Given the description of an element on the screen output the (x, y) to click on. 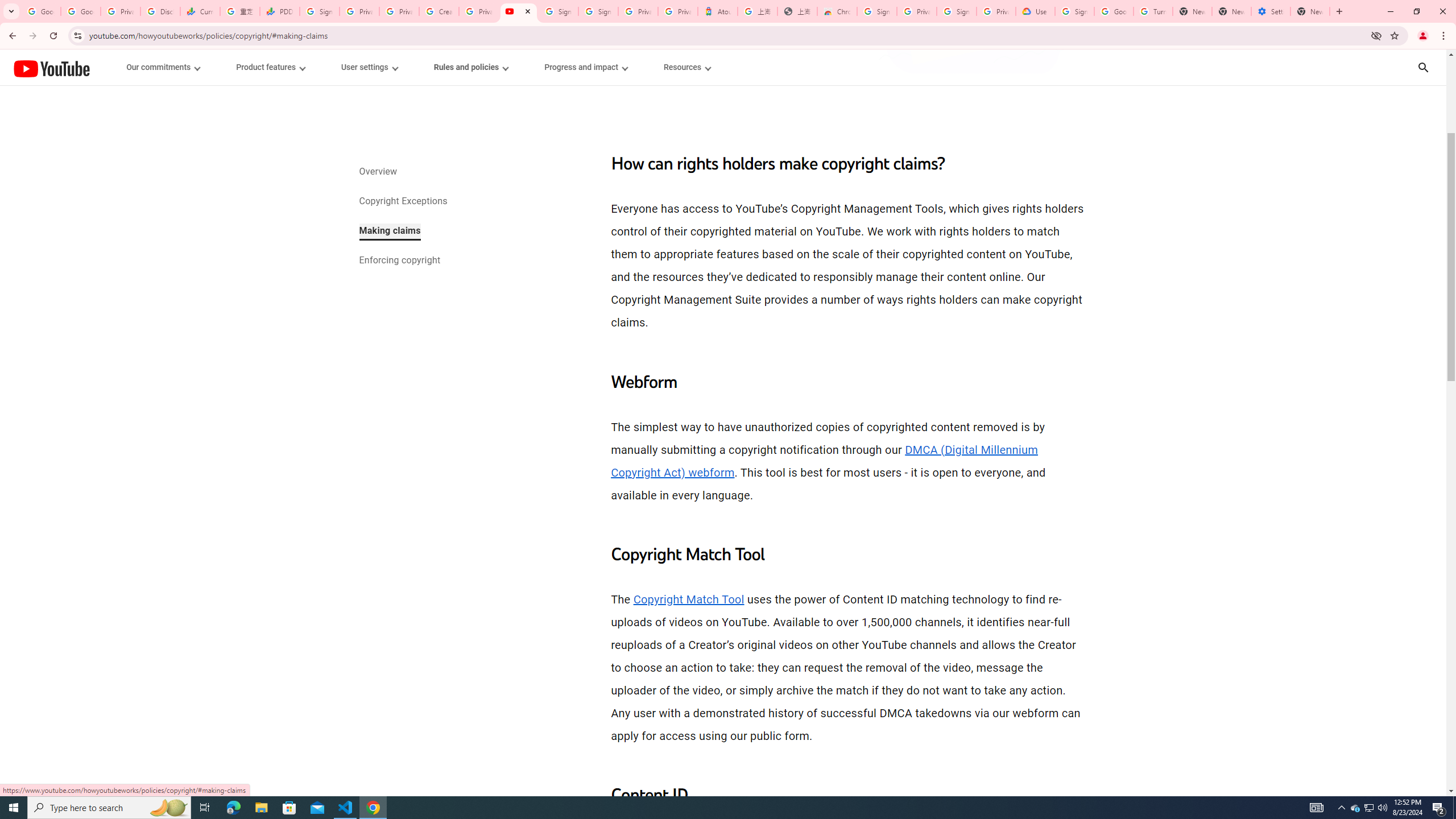
Sign in - Google Accounts (1074, 11)
Rules and policies menupopup (470, 67)
Sign in - Google Accounts (319, 11)
Sign in - Google Accounts (598, 11)
Sign in - Google Accounts (956, 11)
Google Account Help (1113, 11)
